Given the description of an element on the screen output the (x, y) to click on. 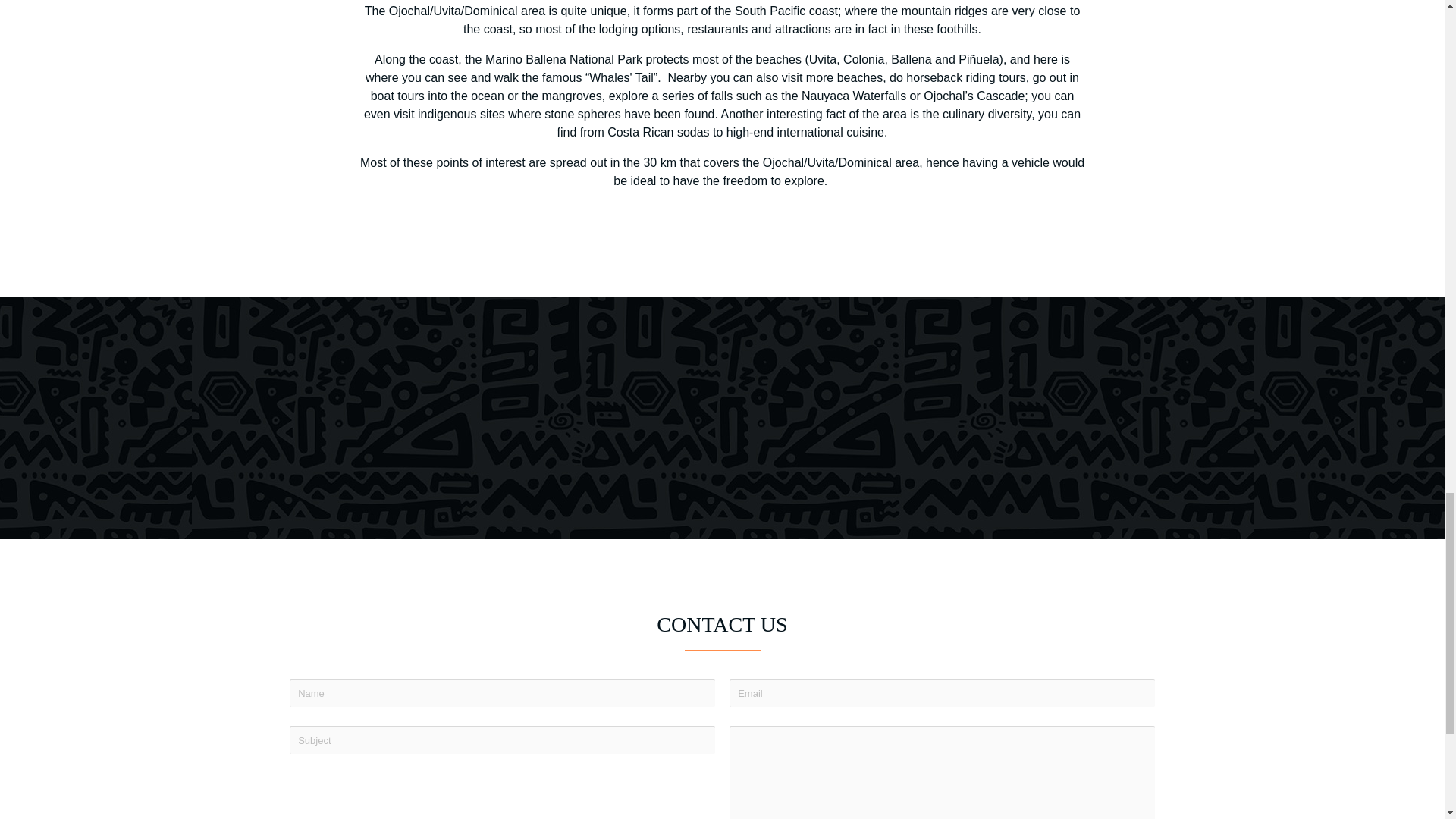
Name (501, 692)
Email (941, 692)
Subject (501, 739)
